Given the description of an element on the screen output the (x, y) to click on. 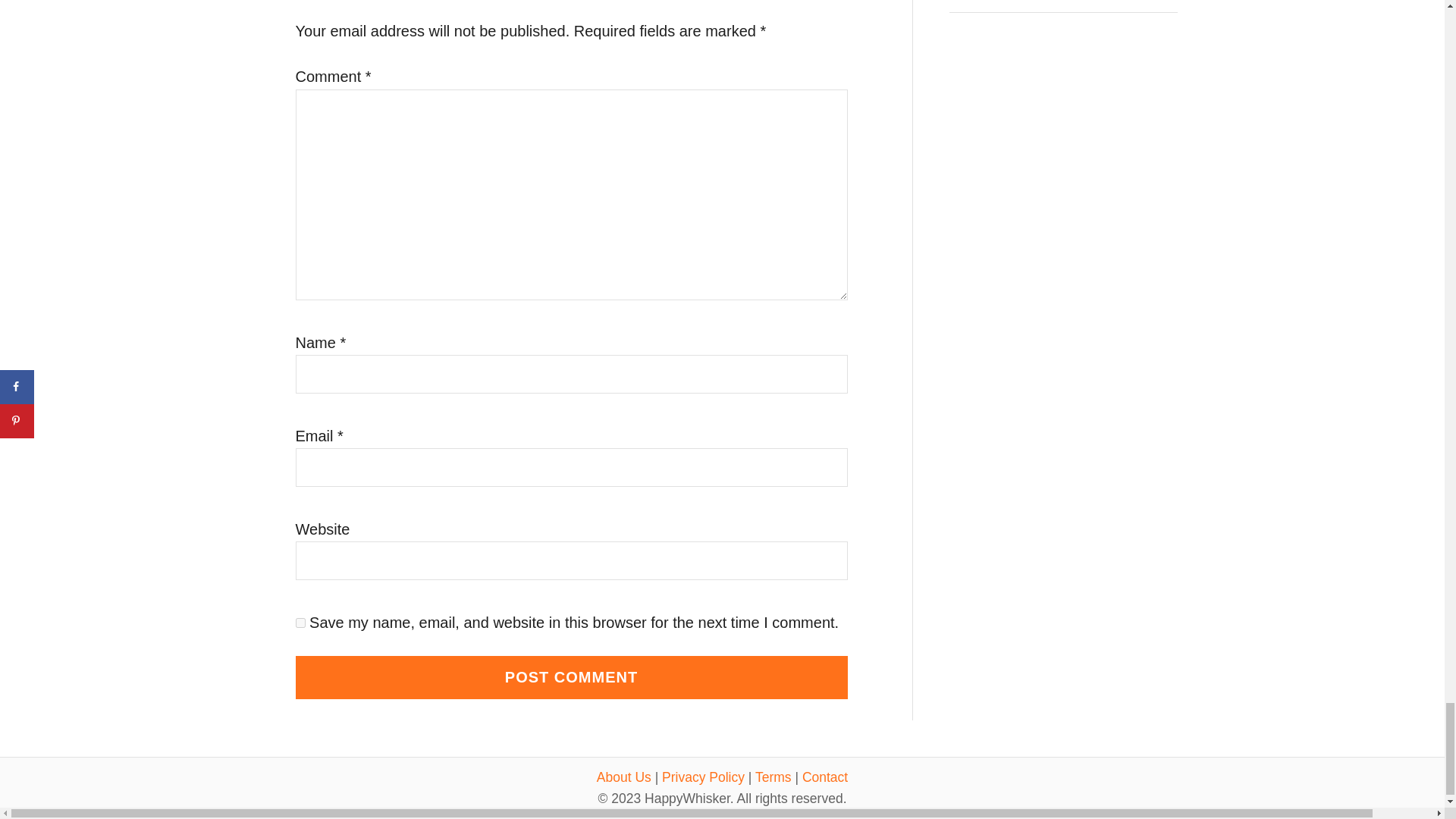
Privacy Policy (703, 776)
Post Comment (571, 677)
Terms (773, 776)
yes (300, 623)
Post Comment (571, 677)
About Us (623, 776)
Contact (824, 776)
